Given the description of an element on the screen output the (x, y) to click on. 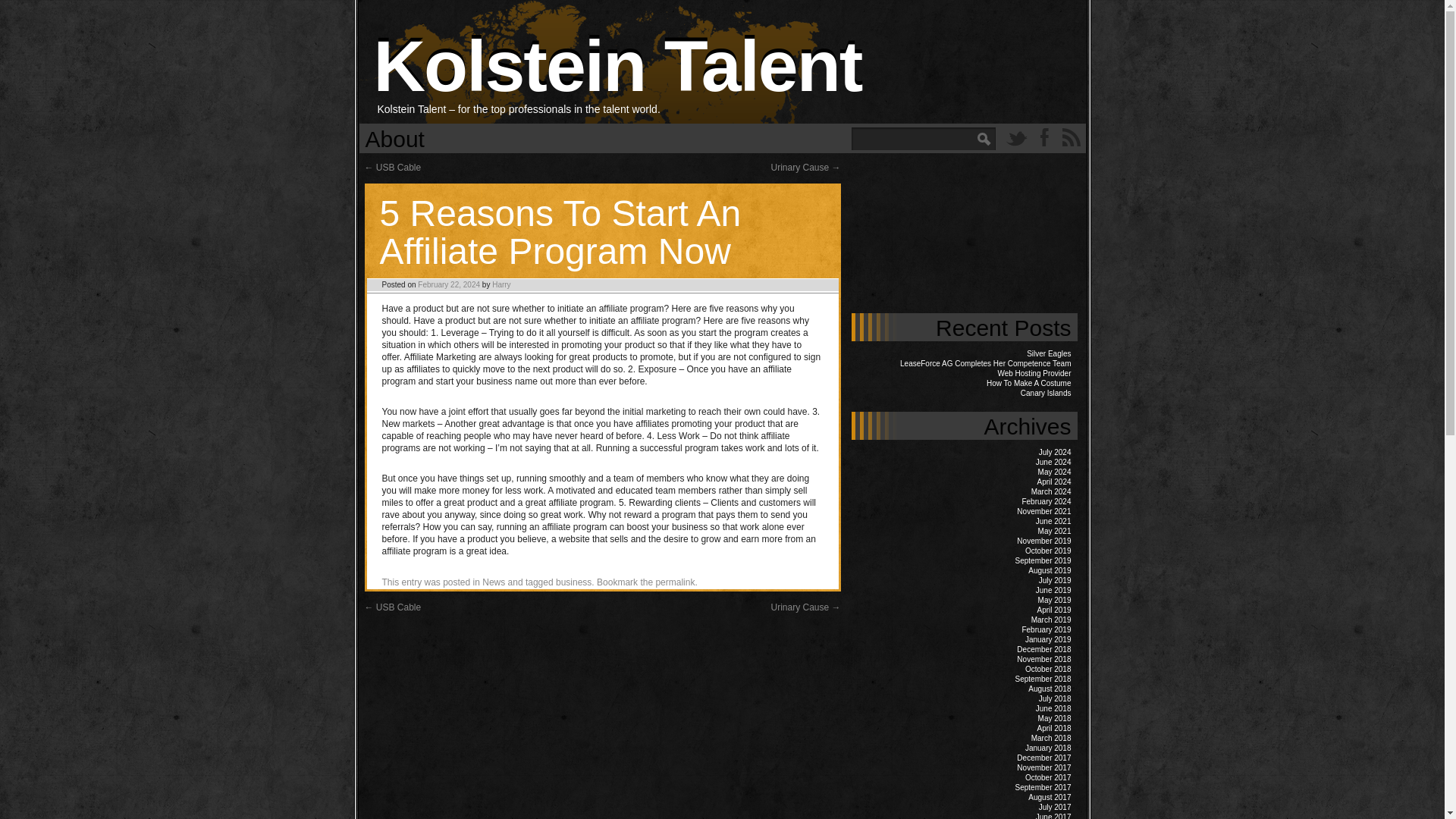
Silver Eagles (1048, 353)
November 2021 (1043, 510)
February 22, 2024 (448, 284)
March 2024 (1050, 491)
LeaseForce AG Completes Her Competence Team (984, 363)
September 2019 (1042, 560)
May 2021 (1054, 531)
Permalink to 5 Reasons To Start An Affiliate Program Now (674, 582)
July 2019 (1055, 580)
August 2019 (1048, 570)
